Given the description of an element on the screen output the (x, y) to click on. 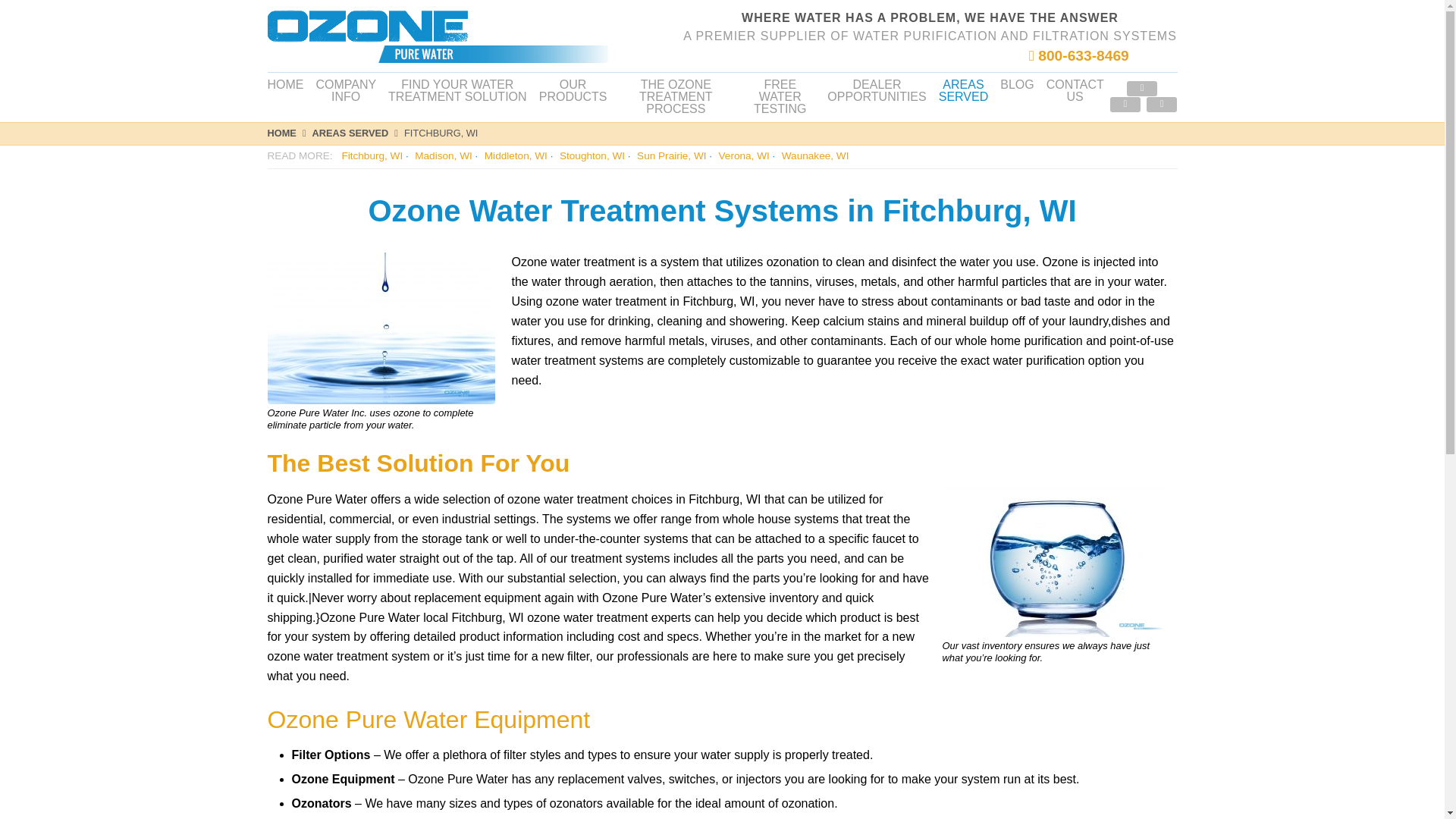
Go to Areas Served (358, 133)
Go to Home (288, 133)
